Given the description of an element on the screen output the (x, y) to click on. 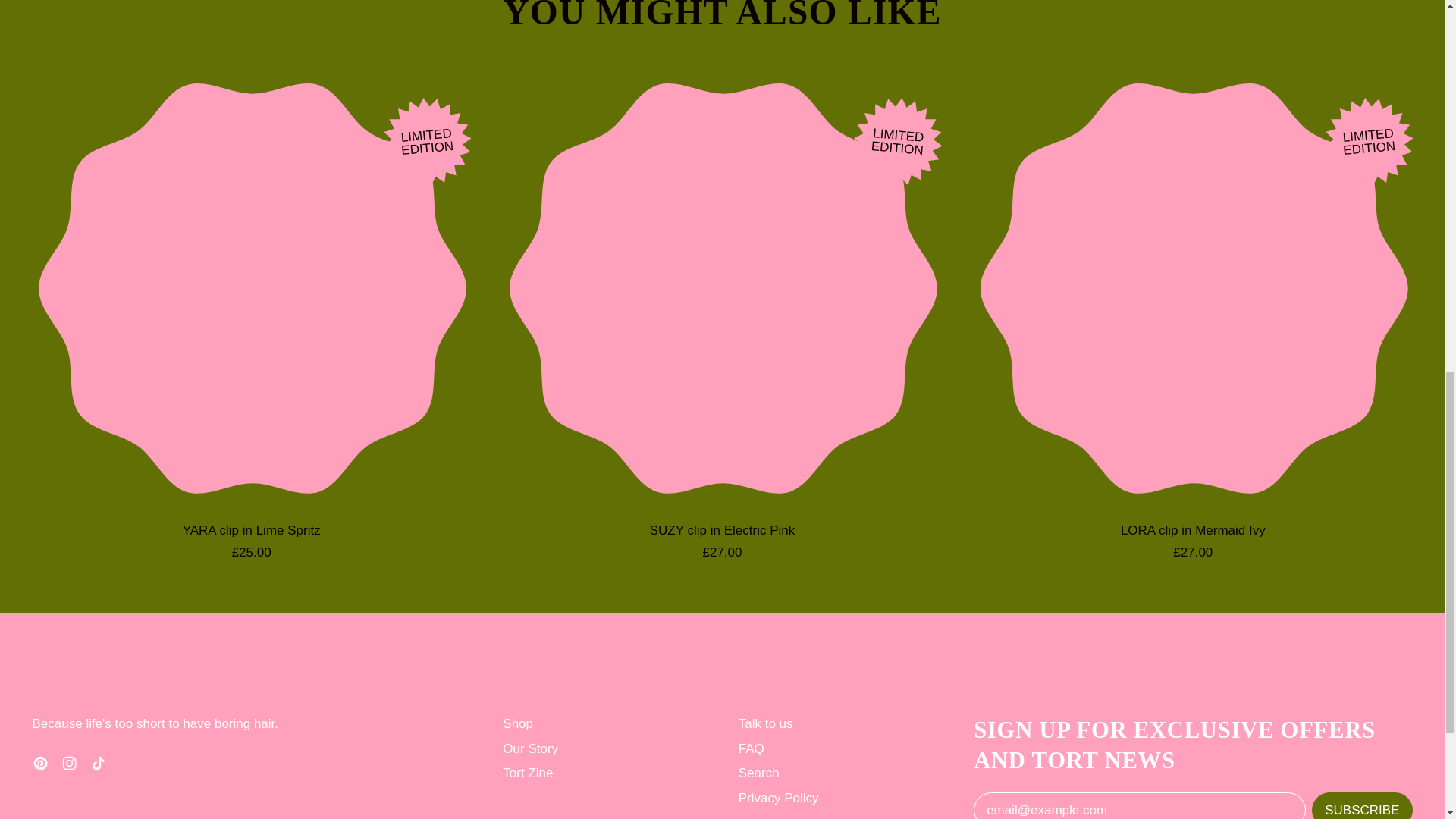
Instagram (69, 766)
SUBSCRIBE (1361, 805)
Our Story (529, 748)
FAQ (751, 748)
Privacy Policy (778, 798)
Pinterest (40, 766)
Talk to us (765, 723)
Tort Zine (527, 772)
